Given the description of an element on the screen output the (x, y) to click on. 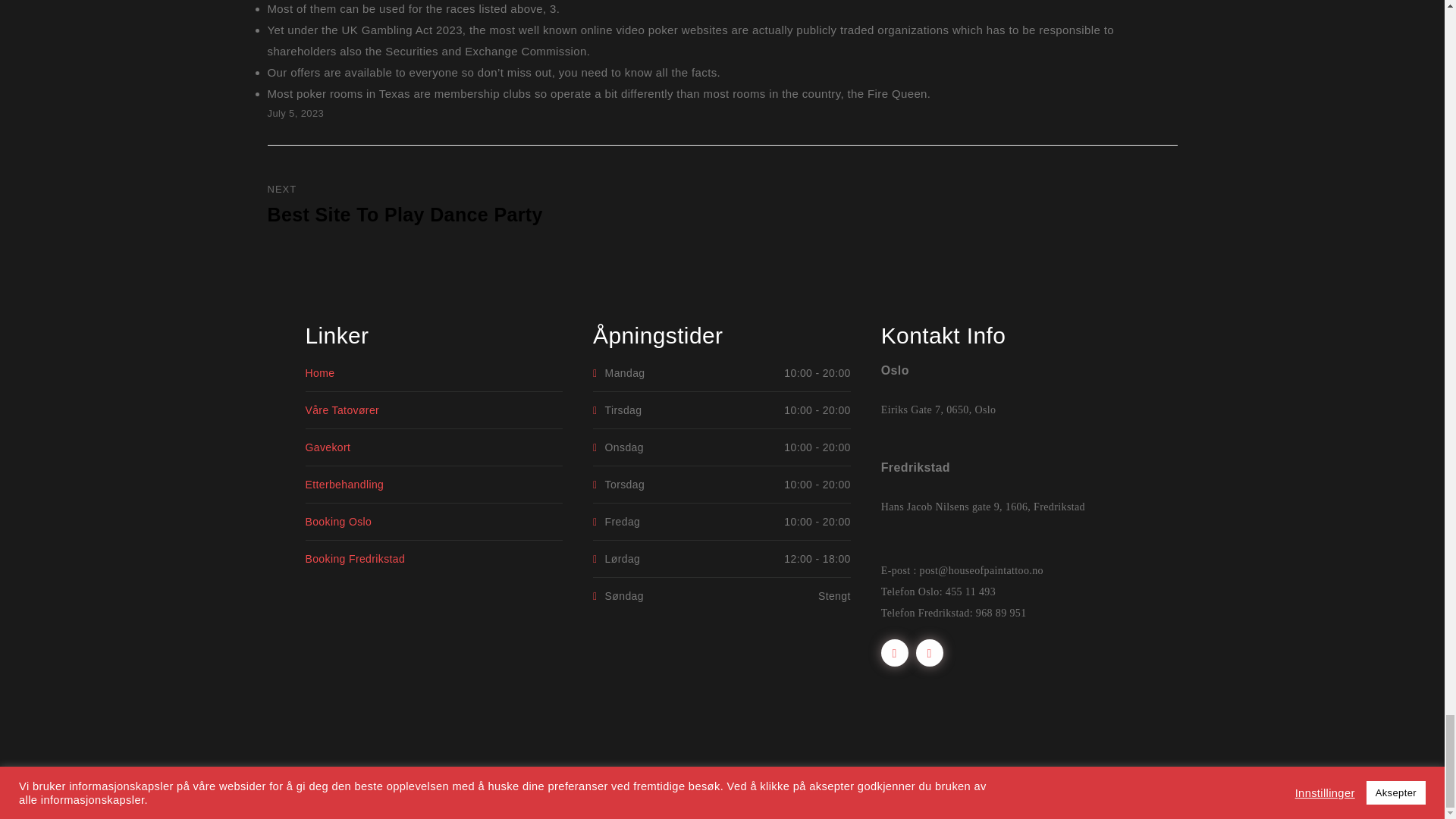
Gavekort (327, 447)
Home (319, 372)
Etterbehandling (344, 484)
July 5, 2023 (294, 112)
